Given the description of an element on the screen output the (x, y) to click on. 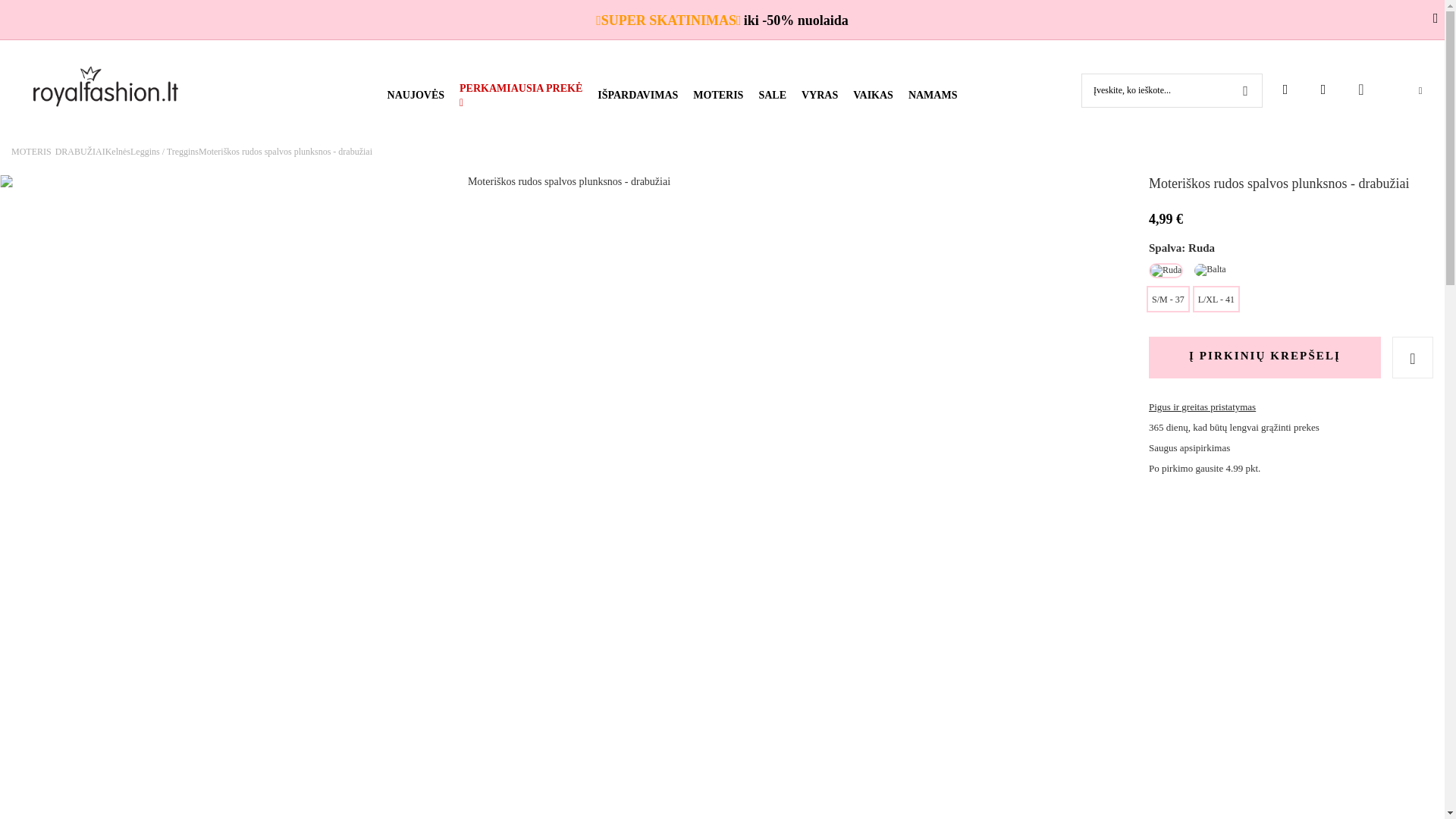
MOTERIS (717, 95)
MOTERIS (717, 95)
